Given the description of an element on the screen output the (x, y) to click on. 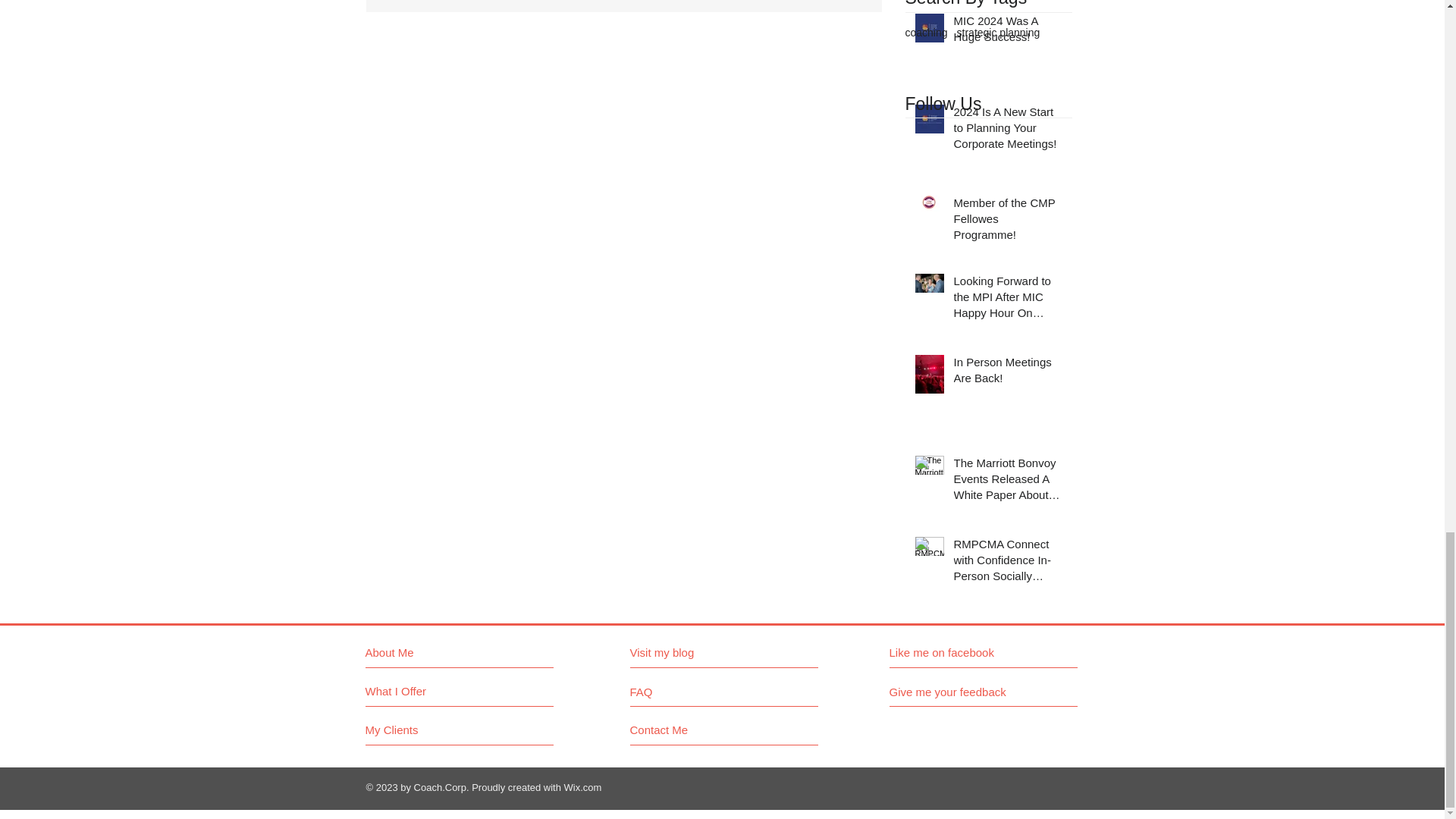
strategic planning (998, 32)
coaching (926, 32)
2024 Is A New Start to Planning Your Corporate Meetings! (1007, 131)
MIC 2024 Was A Huge Success! (1007, 31)
Member of the CMP Fellowes Programme! (1007, 221)
In Person Meetings Are Back! (1007, 372)
